Given the description of an element on the screen output the (x, y) to click on. 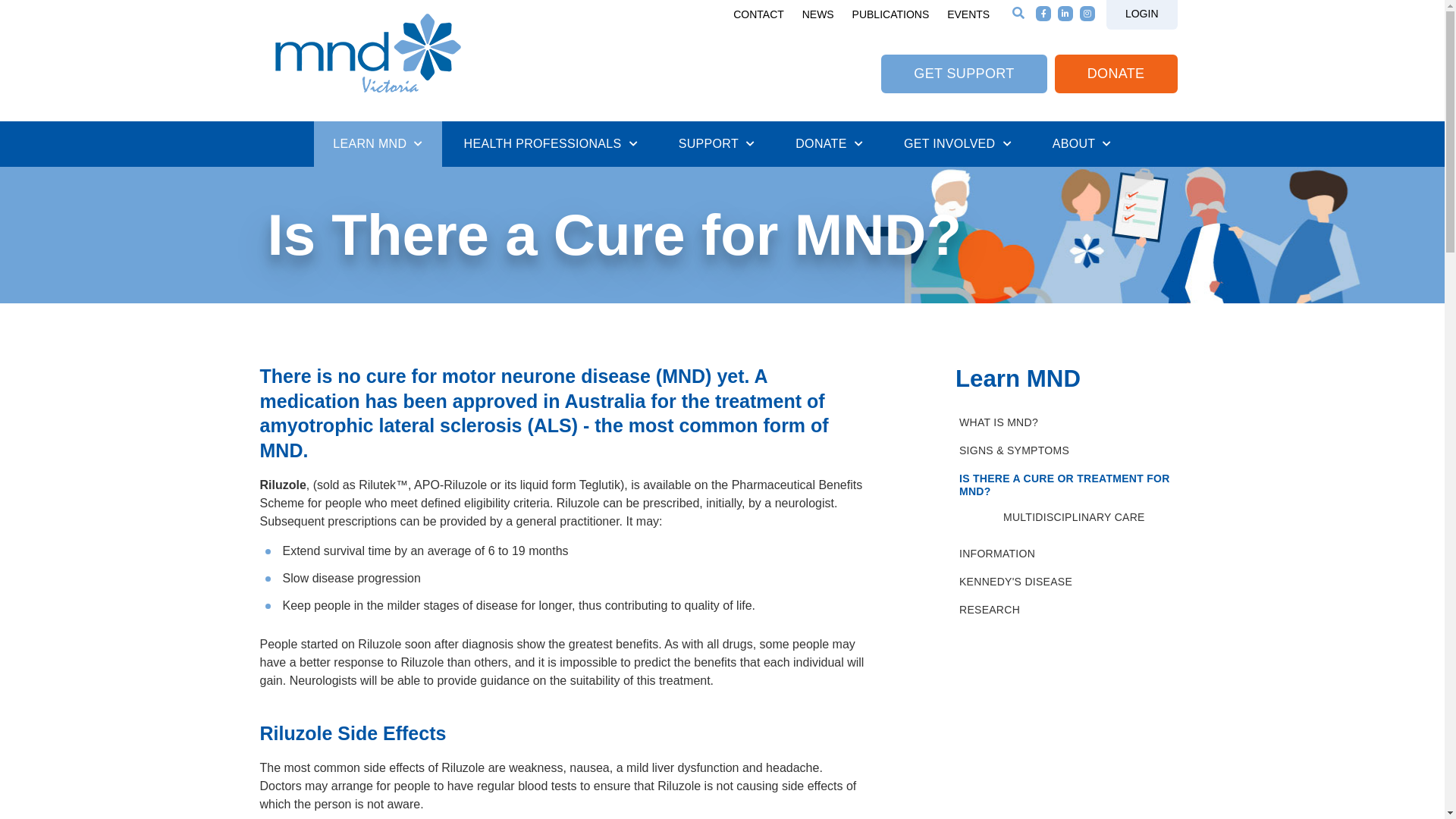
RESEARCH Element type: text (1066, 609)
ABOUT Element type: text (1081, 143)
DONATE Element type: text (1115, 73)
SIGNS & SYMPTOMS Element type: text (1066, 450)
CONTACT Element type: text (758, 14)
GET INVOLVED Element type: text (957, 143)
LEARN MND Element type: text (377, 143)
NEWS Element type: text (818, 14)
SUPPORT Element type: text (716, 143)
EVENTS Element type: text (968, 14)
MULTIDISCIPLINARY CARE Element type: text (1088, 517)
KENNEDY'S DISEASE Element type: text (1066, 581)
Learn MND Element type: text (1017, 378)
LOGIN Element type: text (1141, 14)
IS THERE A CURE OR TREATMENT FOR MND? Element type: text (1066, 485)
HEALTH PROFESSIONALS Element type: text (550, 143)
PUBLICATIONS Element type: text (890, 14)
DONATE Element type: text (828, 143)
INFORMATION Element type: text (1066, 553)
GET SUPPORT Element type: text (963, 73)
WHAT IS MND? Element type: text (1066, 422)
